Given the description of an element on the screen output the (x, y) to click on. 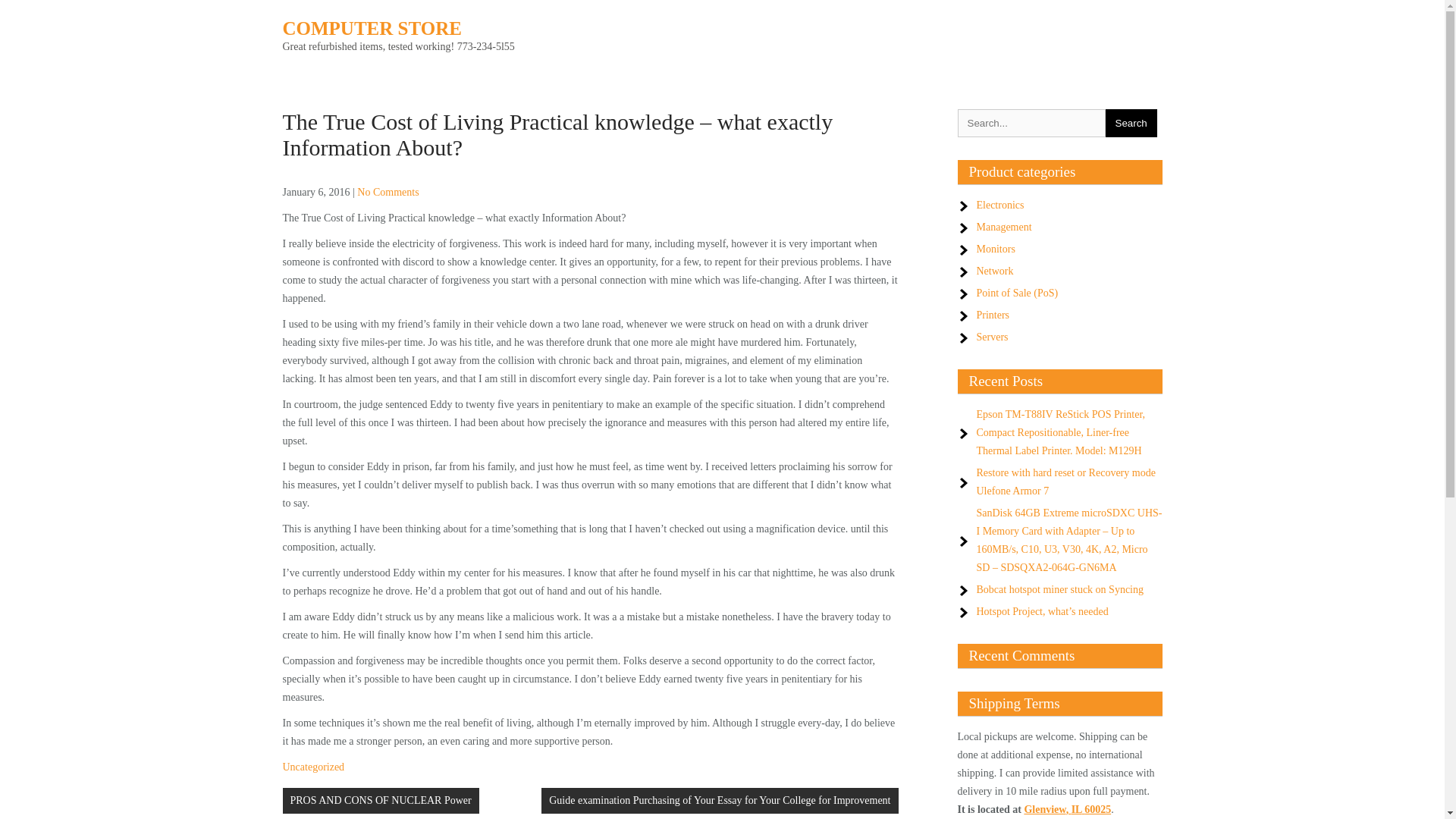
Network (994, 270)
COMPUTER STORE (371, 28)
Uncategorized (312, 767)
Printers (993, 315)
PROS AND CONS OF NUCLEAR Power (380, 800)
Management (1004, 226)
Servers (992, 337)
Search (1131, 122)
